Given the description of an element on the screen output the (x, y) to click on. 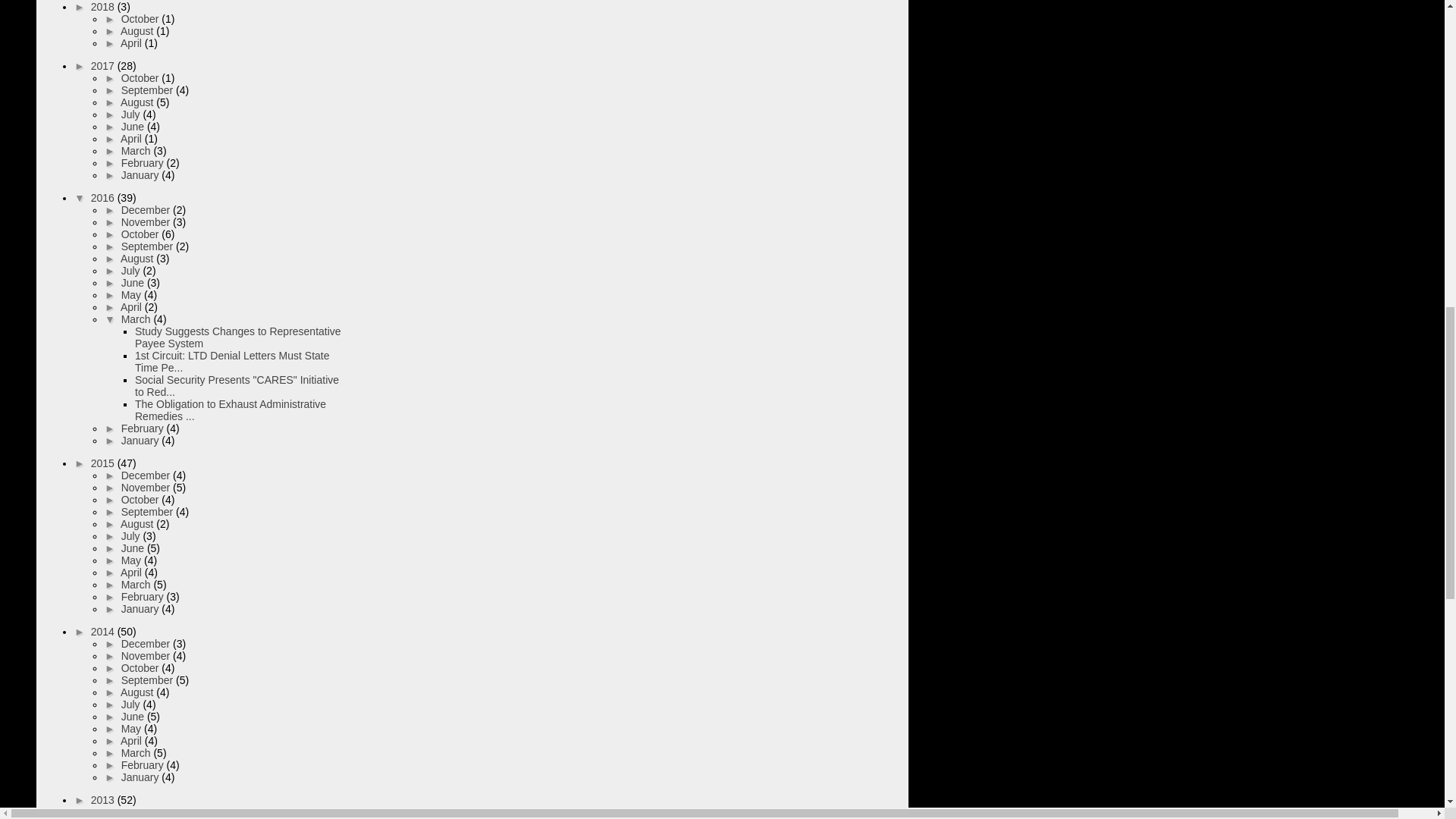
August (137, 30)
2018 (103, 6)
September (148, 90)
October (140, 19)
August (137, 102)
October (140, 78)
2017 (103, 65)
April (132, 42)
